Given the description of an element on the screen output the (x, y) to click on. 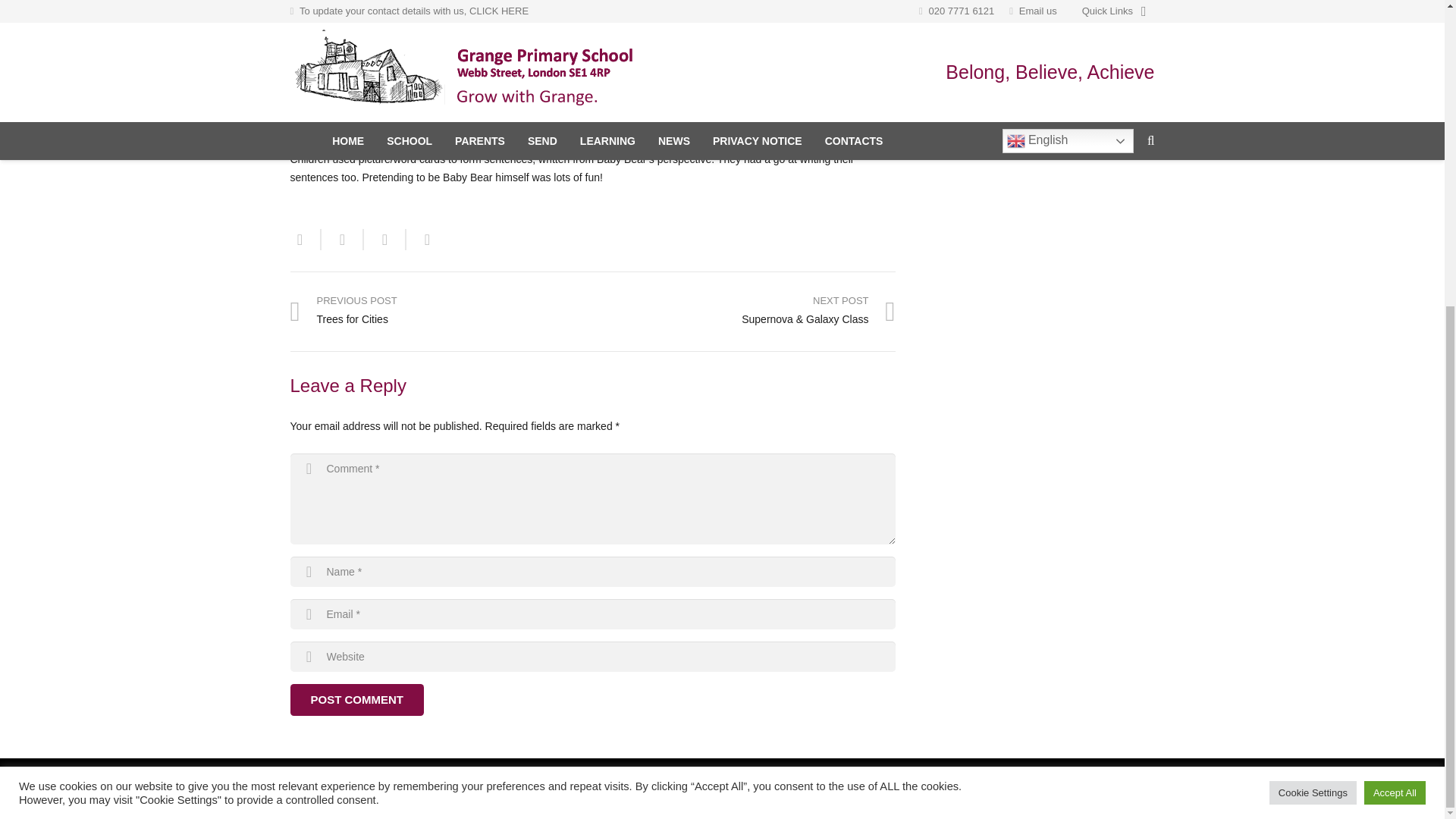
Post Comment (356, 699)
